Given the description of an element on the screen output the (x, y) to click on. 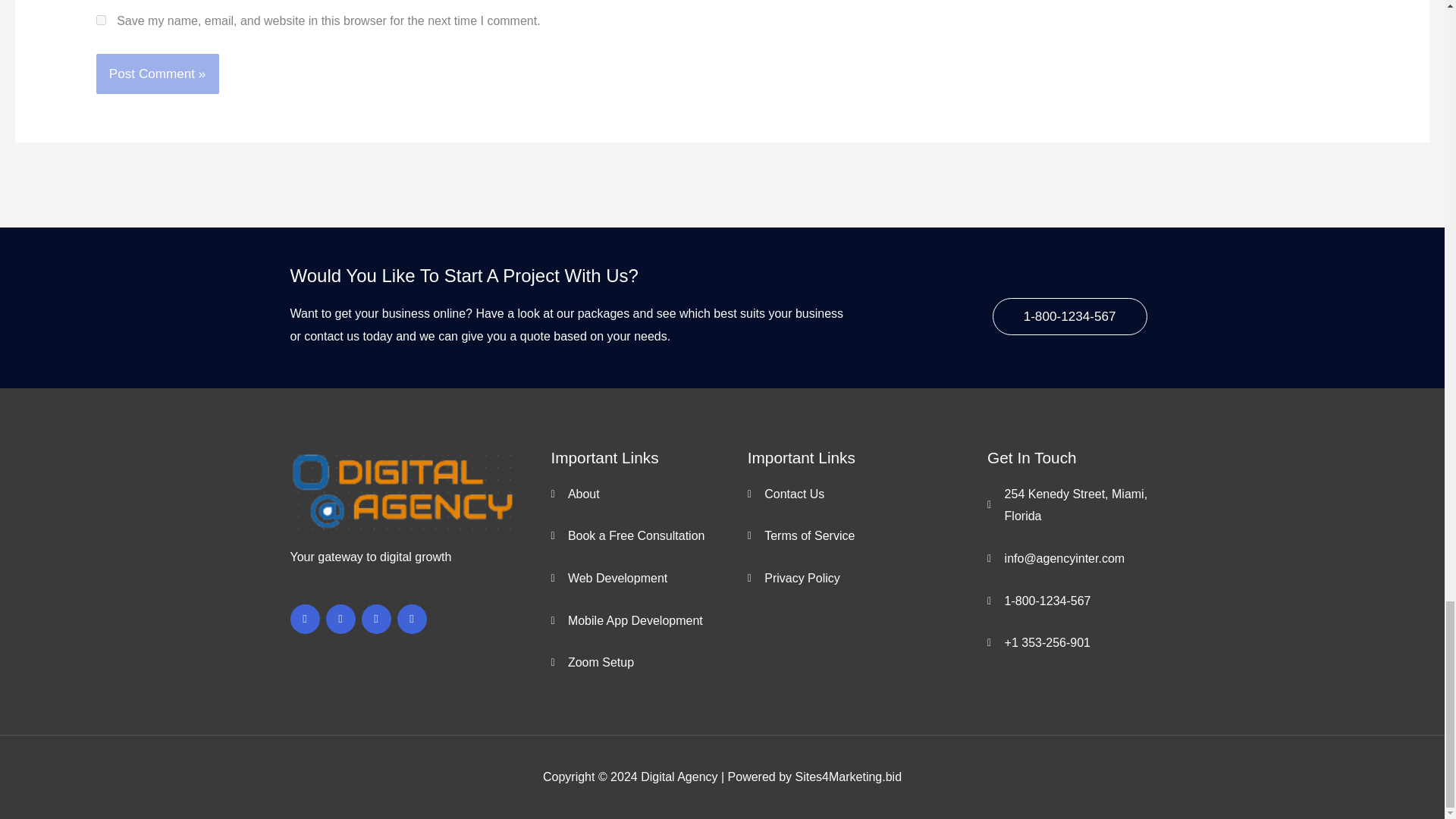
Mobile App Development (648, 620)
Privacy Policy (867, 578)
Book a Free Consultation (648, 535)
Terms of Service (867, 535)
Contact Us (867, 494)
Web Development (648, 578)
1-800-1234-567 (1069, 316)
About (648, 494)
Tumblr (340, 618)
Facebook-f (303, 618)
